Given the description of an element on the screen output the (x, y) to click on. 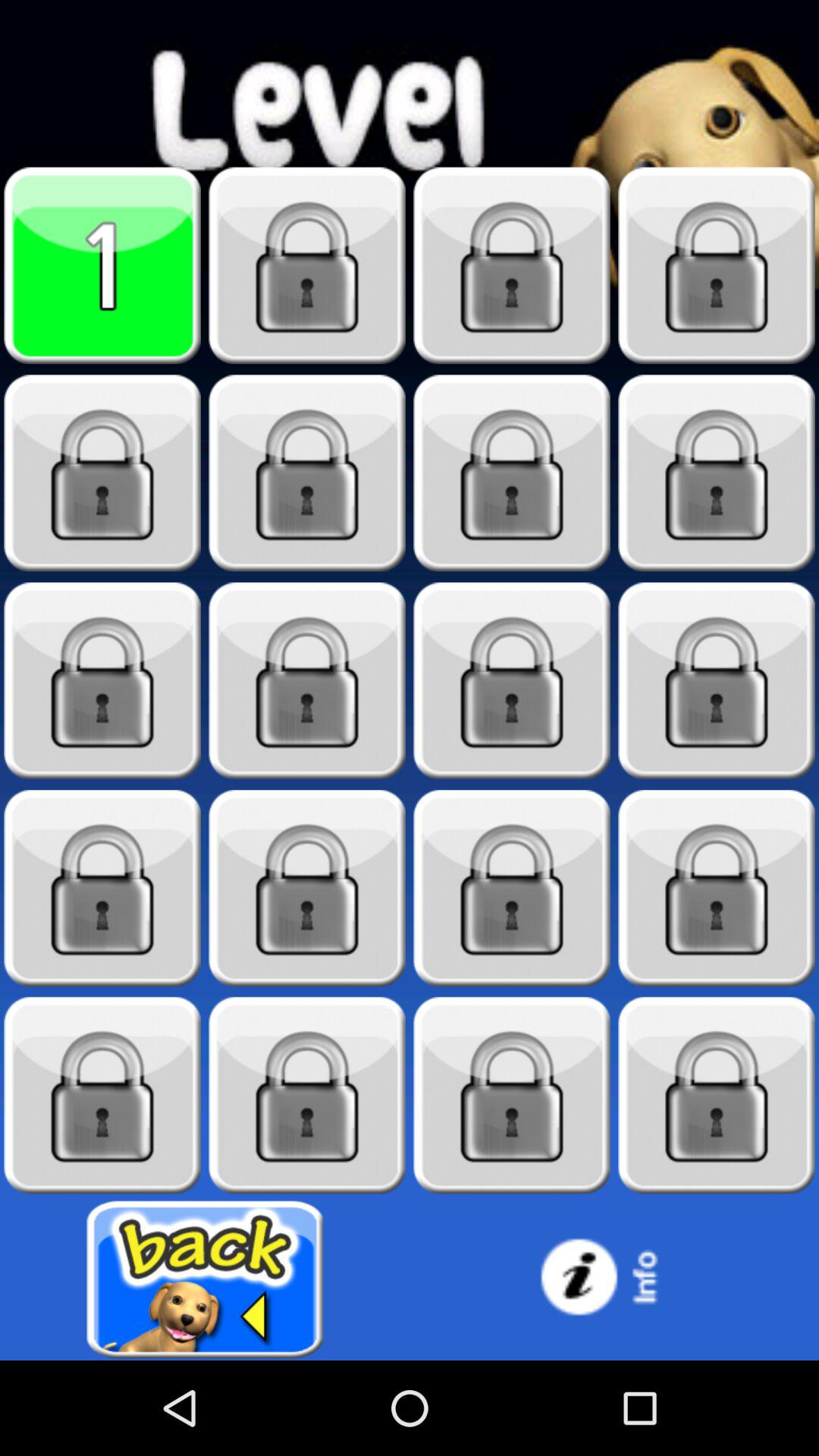
click to unlock (511, 473)
